Given the description of an element on the screen output the (x, y) to click on. 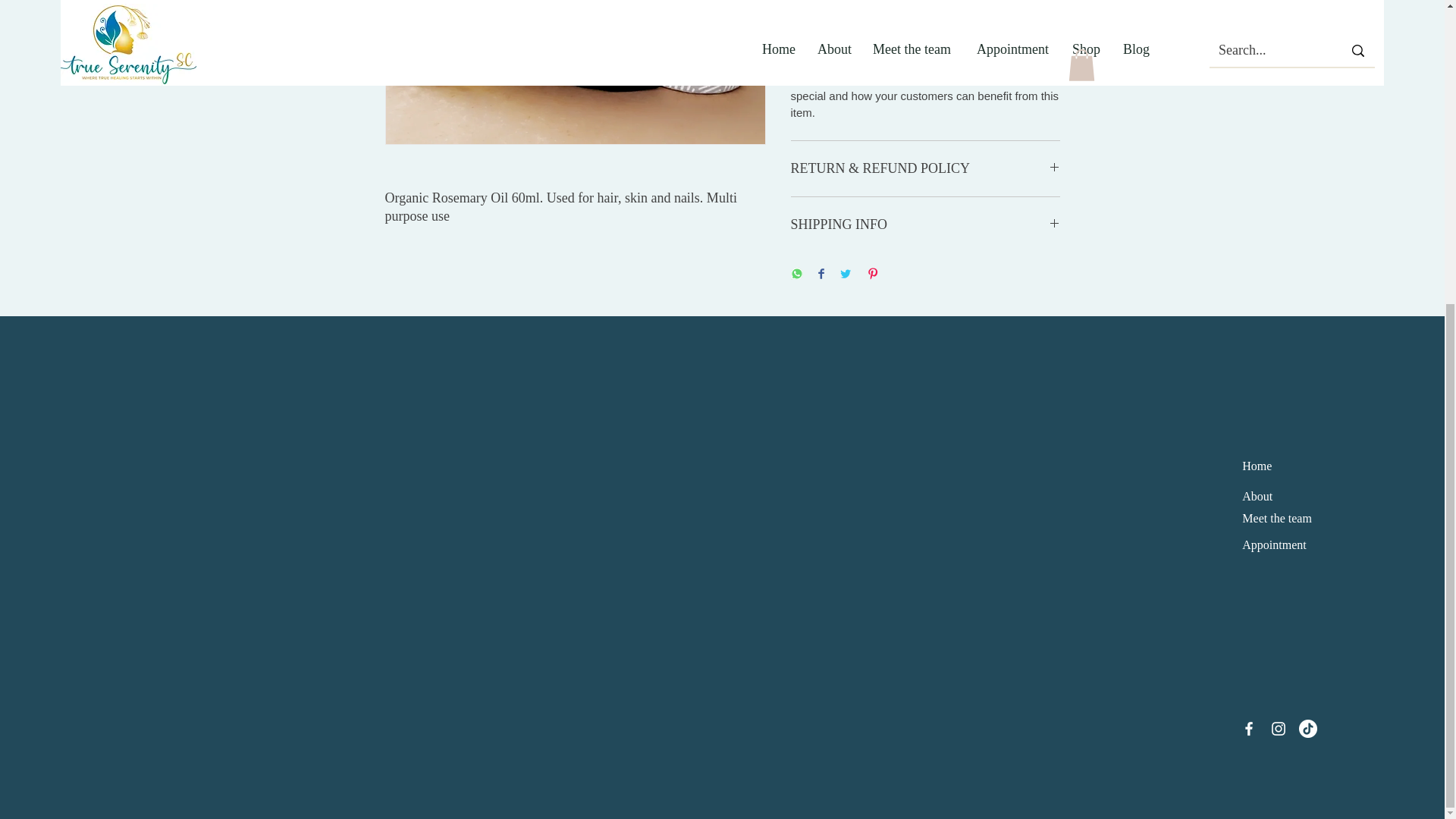
PRODUCT INFO (924, 3)
SHIPPING INFO (924, 224)
Meet the team (1276, 517)
About (1256, 495)
